Given the description of an element on the screen output the (x, y) to click on. 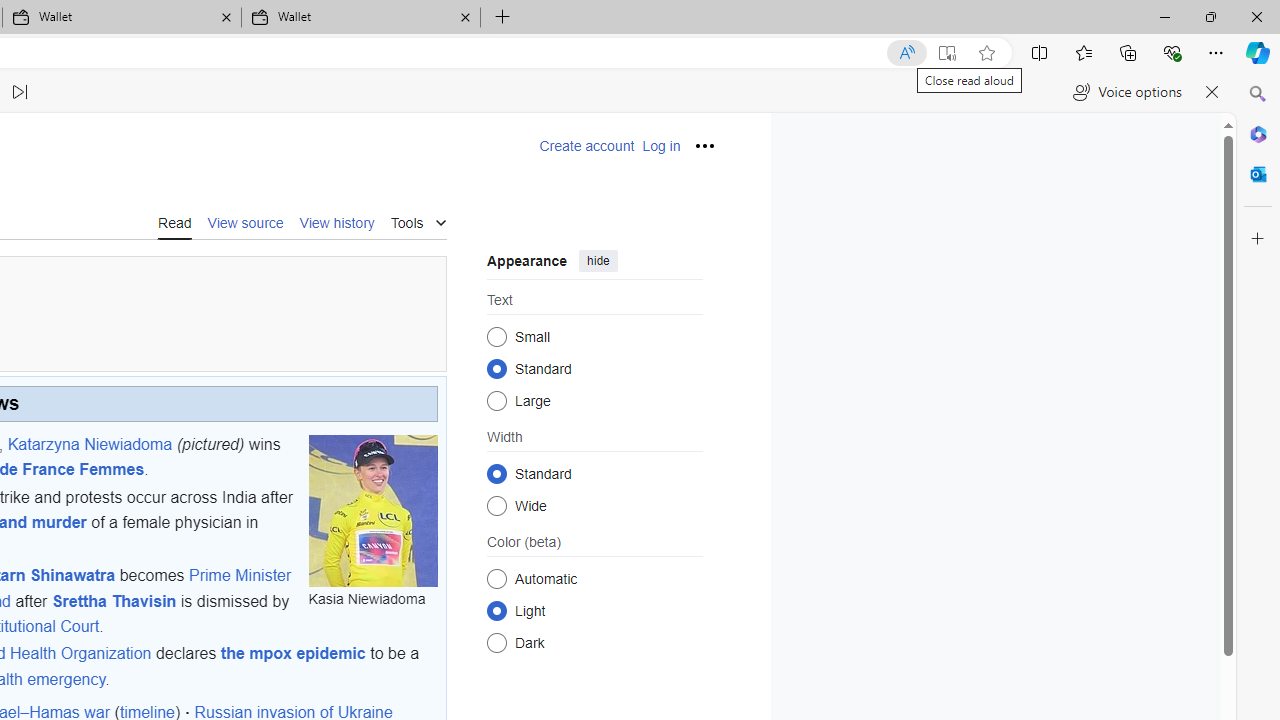
Tools (418, 220)
View history (337, 221)
Light (496, 609)
View source (245, 222)
Log in (661, 146)
Personal tools (703, 146)
Srettha Thavisin (113, 600)
Log in (661, 146)
Large (496, 400)
View source (245, 221)
Katarzyna Niewiadoma (89, 443)
the mpox epidemic (293, 654)
